Given the description of an element on the screen output the (x, y) to click on. 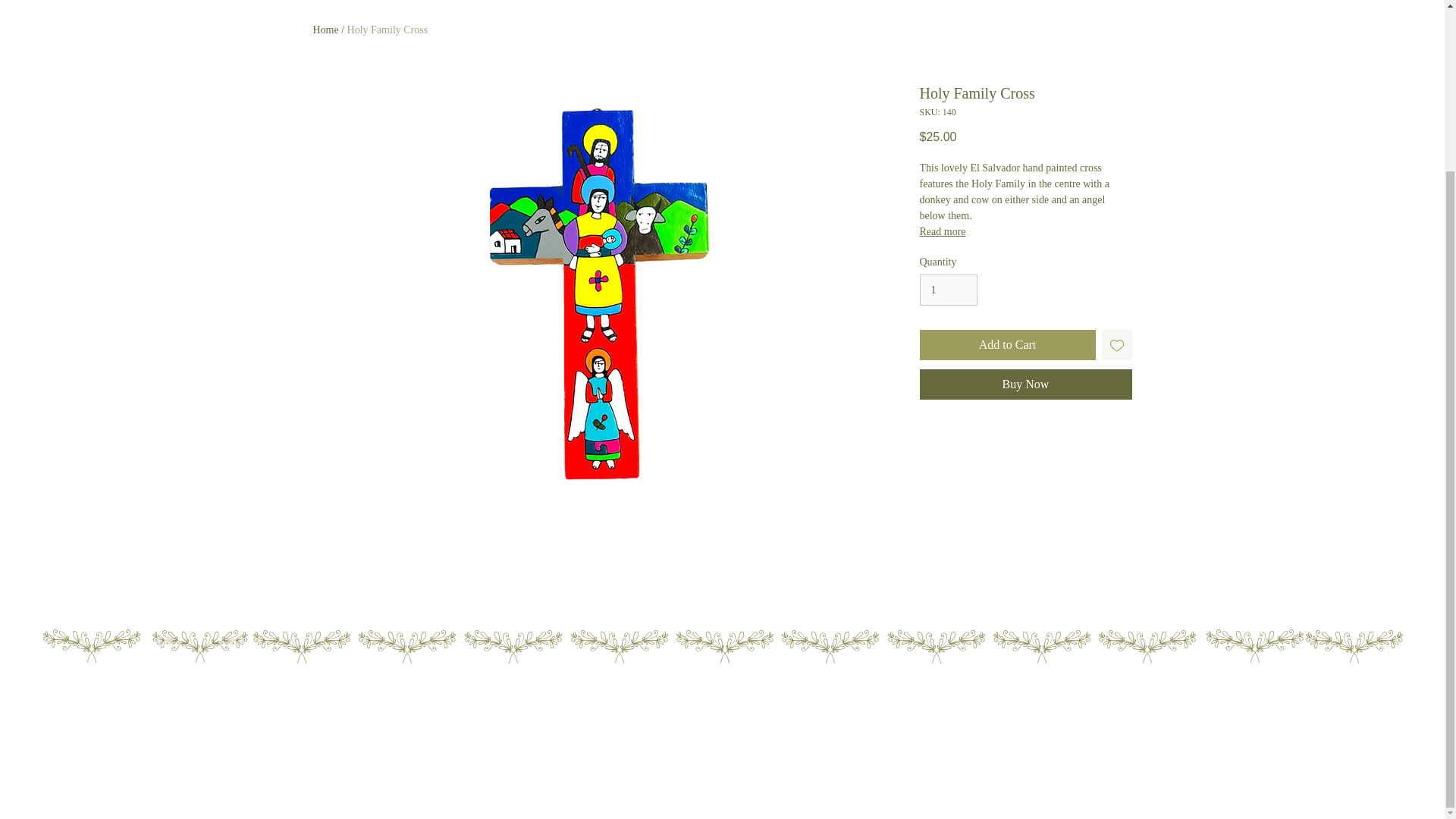
Holy Family Cross (387, 30)
Add to Cart (1006, 345)
Home (325, 30)
Read more (1024, 231)
1 (947, 289)
Buy Now (1024, 384)
